Given the description of an element on the screen output the (x, y) to click on. 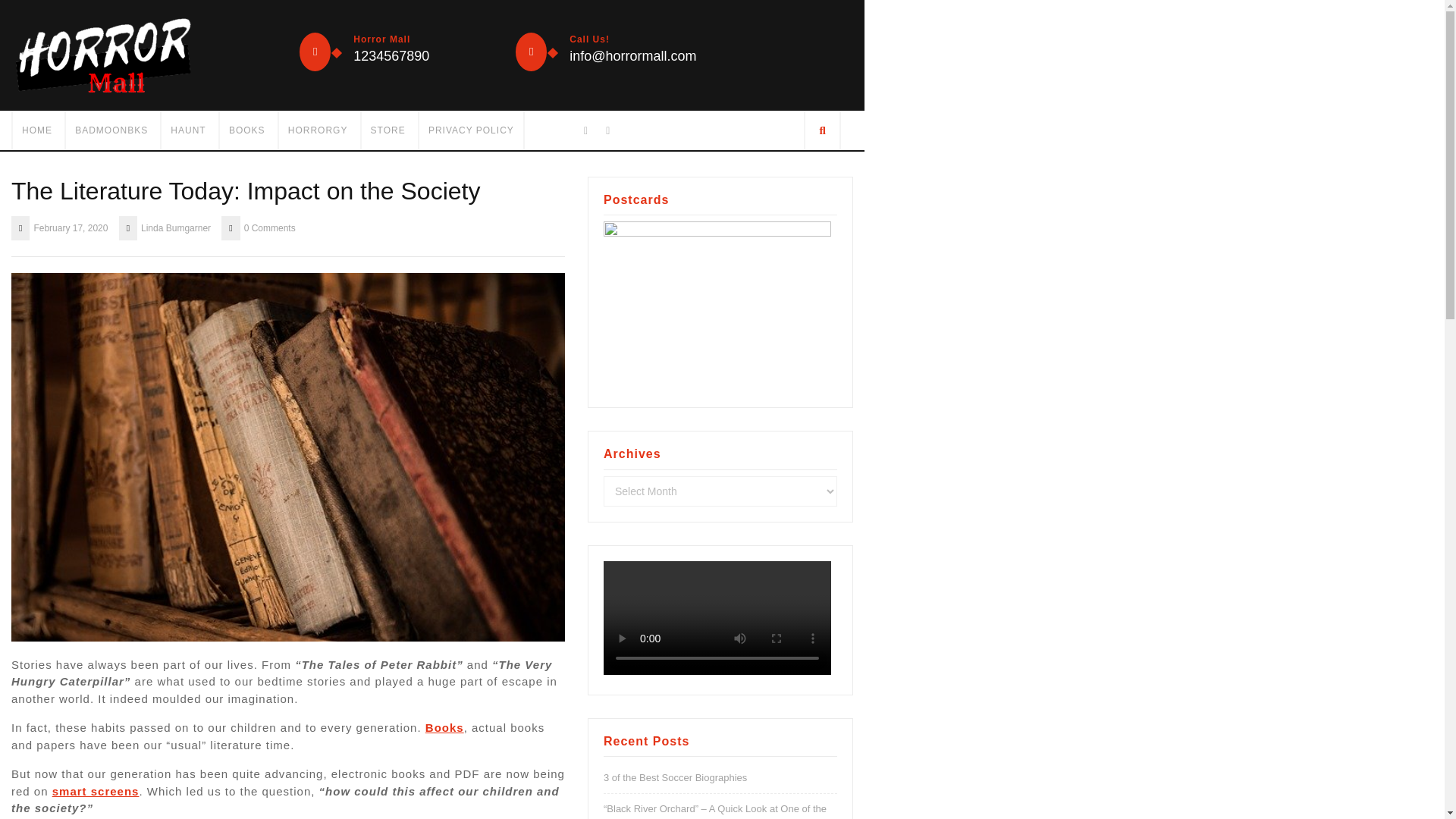
HORRORGY (317, 130)
STORE (388, 130)
smart screens (95, 790)
Books (444, 727)
HAUNT (187, 130)
BADMOONBKS (111, 130)
HOME (36, 130)
BOOKS (246, 130)
PRIVACY POLICY (470, 130)
